Given the description of an element on the screen output the (x, y) to click on. 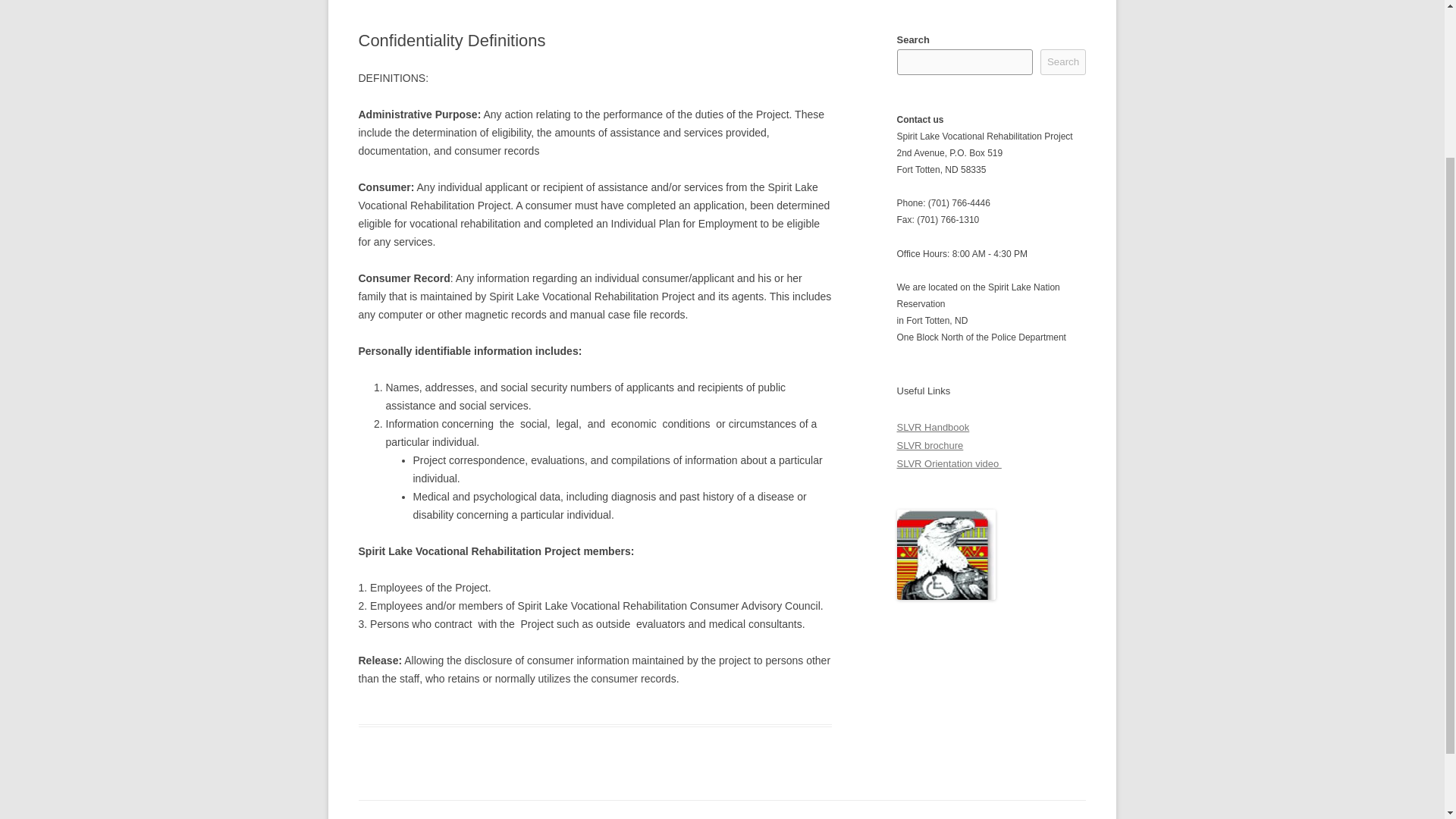
SLVR Handbook (932, 427)
SLVR Orientation video  (948, 463)
SLVR brochure (929, 445)
Search (1063, 62)
